Given the description of an element on the screen output the (x, y) to click on. 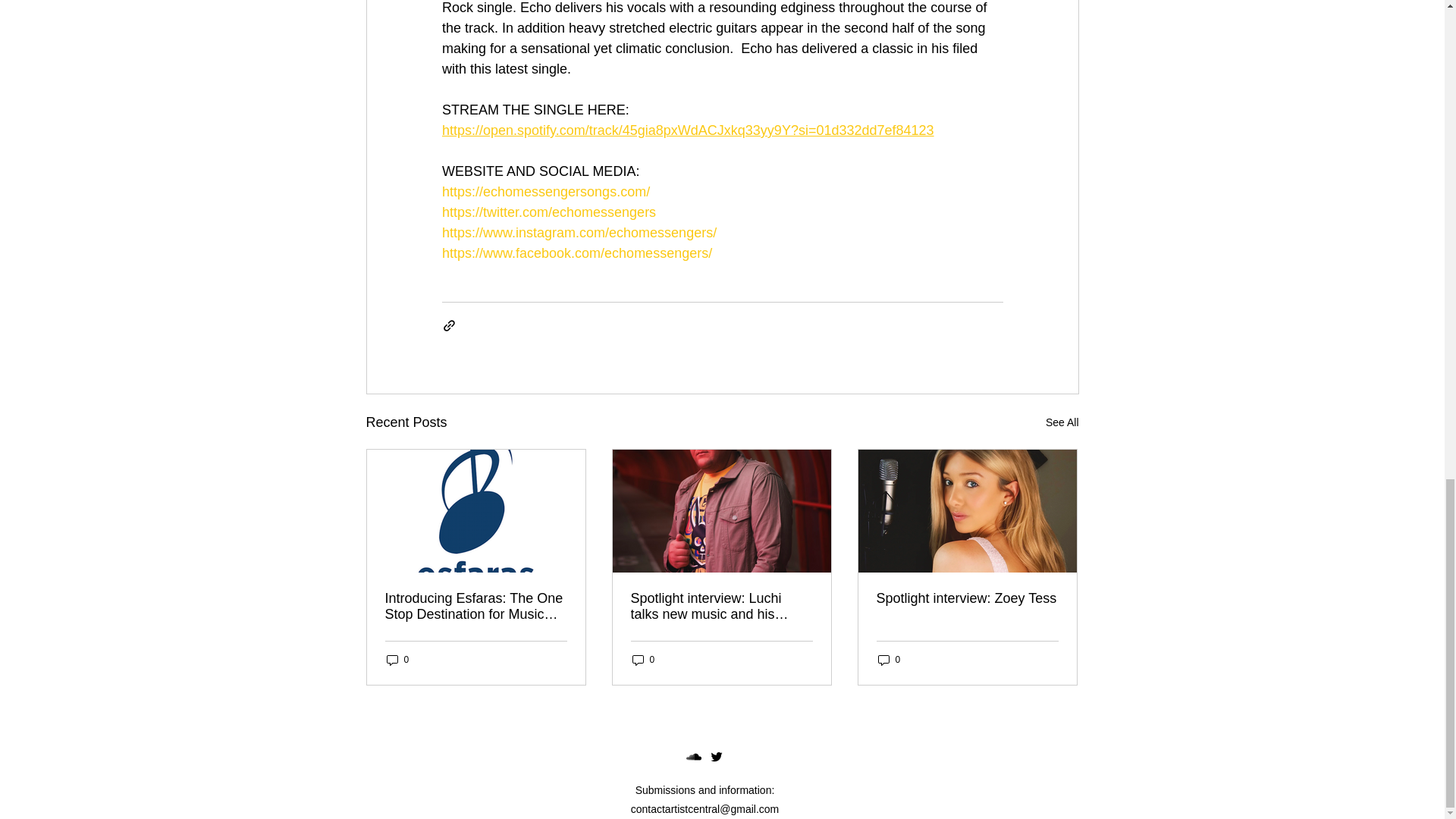
0 (643, 659)
0 (397, 659)
See All (1061, 422)
Spotlight interview: Zoey Tess (967, 598)
0 (889, 659)
